Given the description of an element on the screen output the (x, y) to click on. 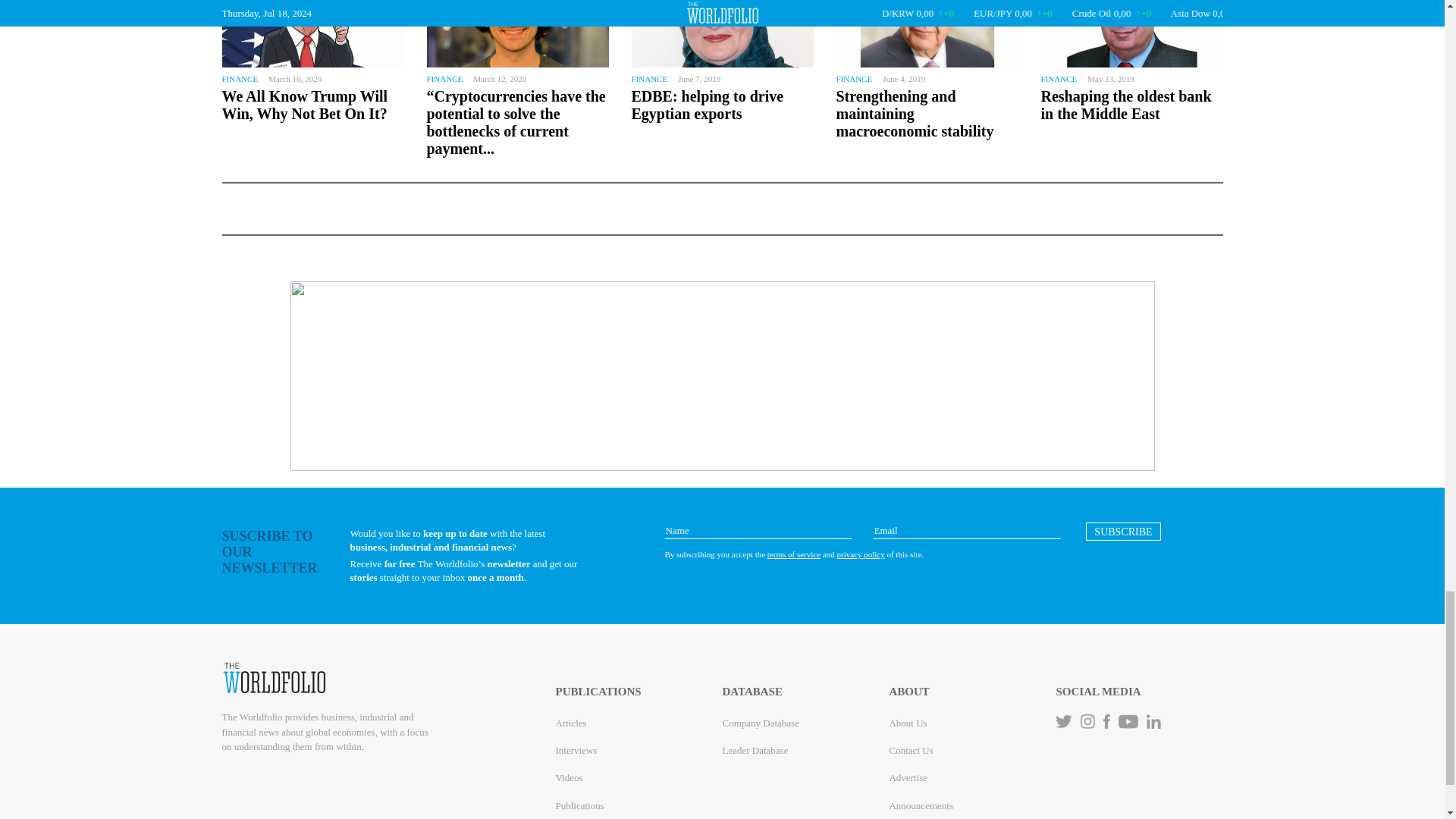
SUBSCRIBE (1123, 531)
